Given the description of an element on the screen output the (x, y) to click on. 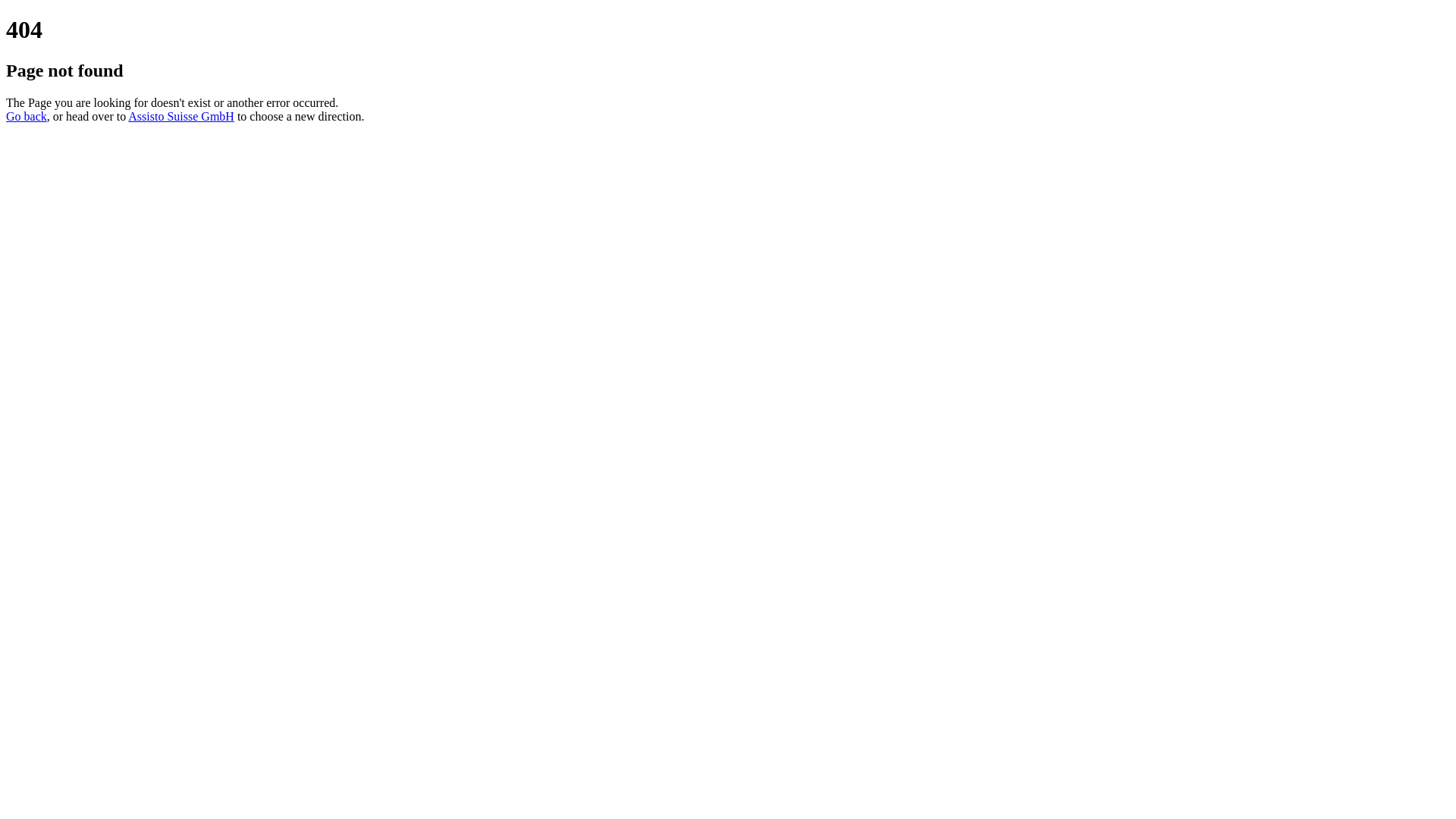
Assisto Suisse GmbH Element type: text (181, 115)
Go back Element type: text (26, 115)
